Given the description of an element on the screen output the (x, y) to click on. 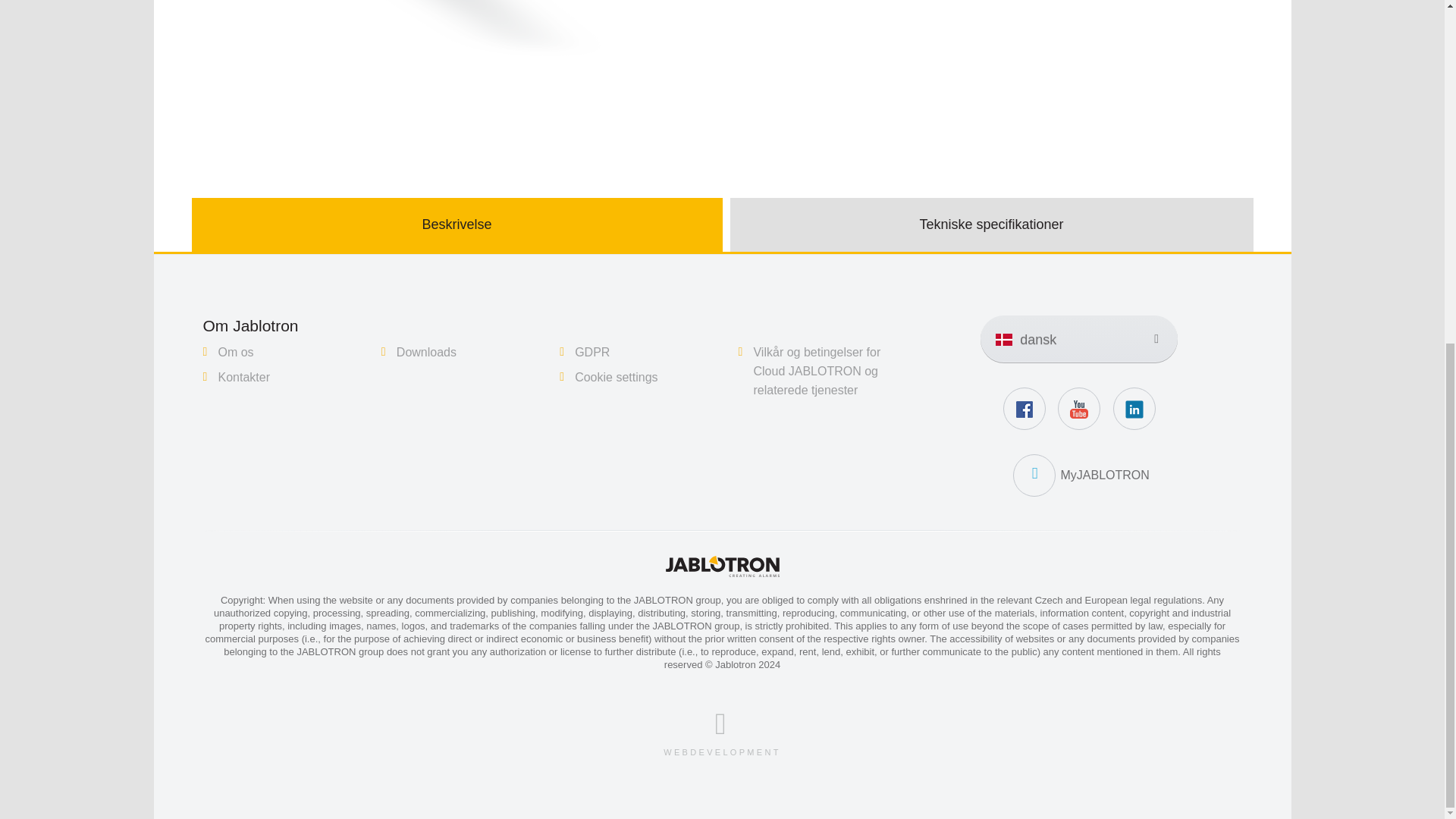
Kontakter (243, 377)
Downloads (426, 351)
GDPR (592, 351)
Om Jablotron (250, 325)
Om os (235, 351)
Beskrivelse (456, 224)
Tekniske specifikationer (990, 224)
Cookie settings (616, 377)
